Given the description of an element on the screen output the (x, y) to click on. 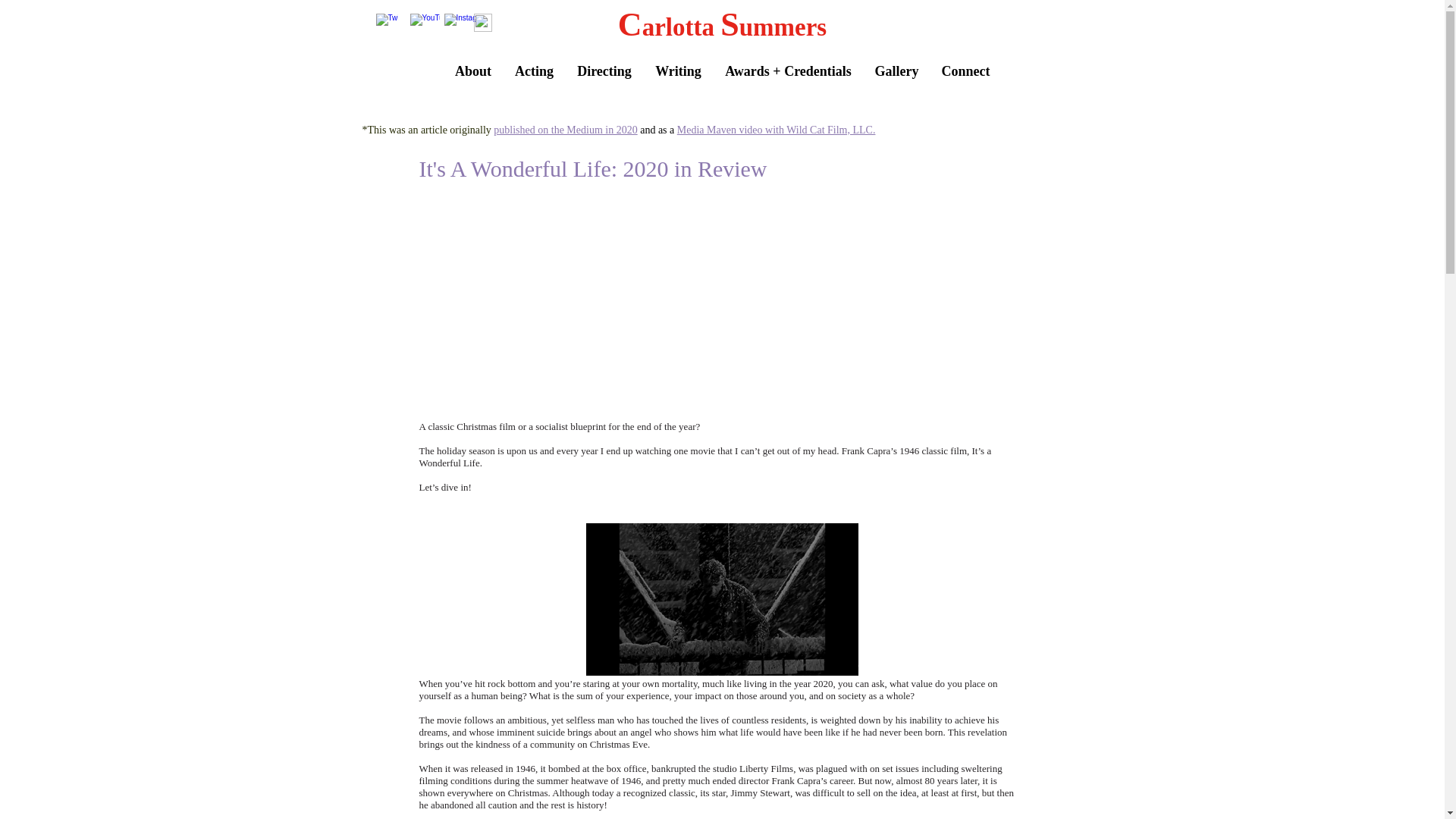
Directing (604, 70)
Media Maven video with Wild Cat Film, LLC. (776, 129)
Connect (965, 70)
published on the Medium in 2020 (565, 129)
Gallery (896, 70)
ummers (783, 26)
Acting (534, 70)
About (472, 70)
arlotta (681, 26)
Writing (678, 70)
